Given the description of an element on the screen output the (x, y) to click on. 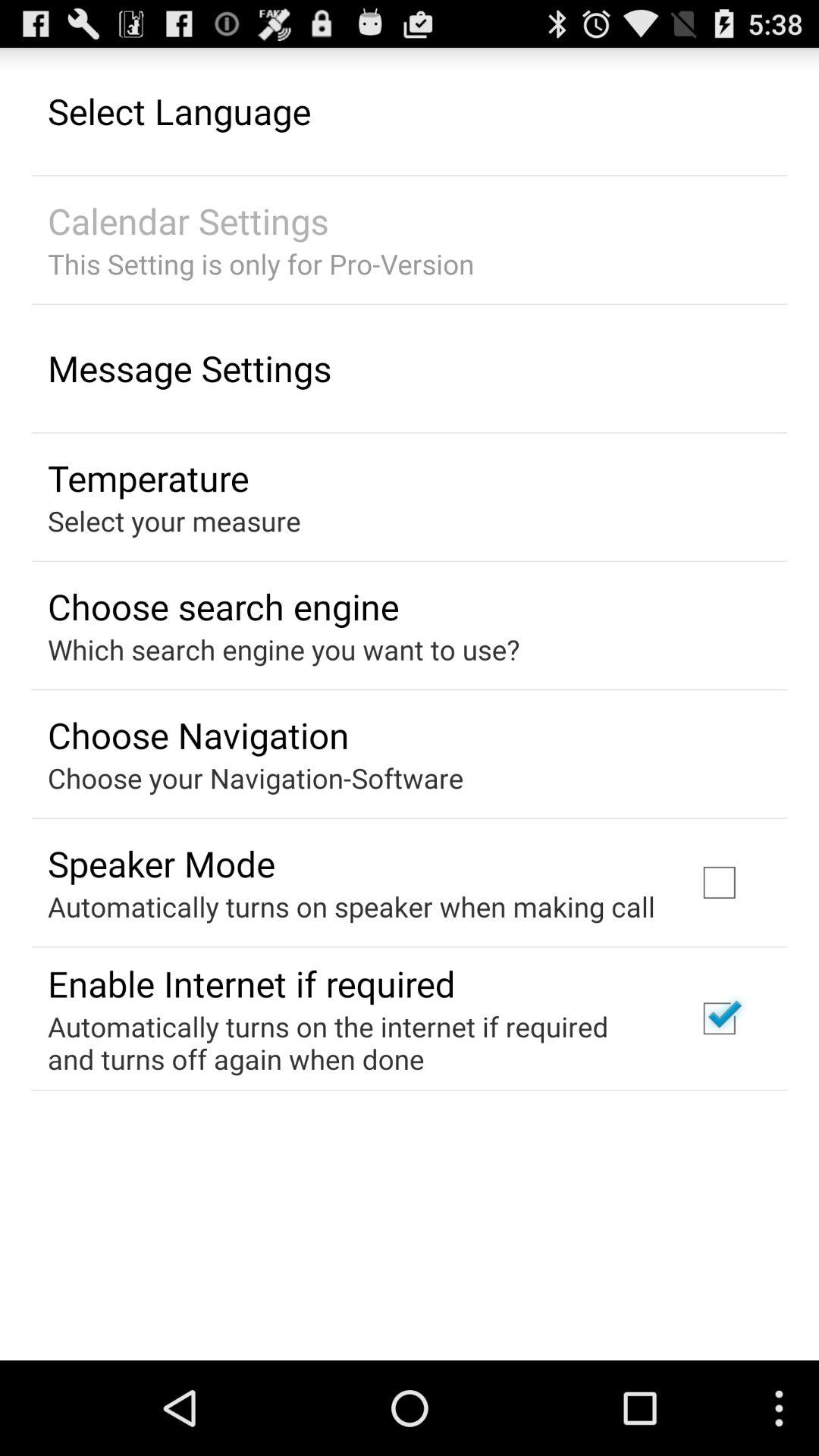
tap select language app (179, 111)
